Given the description of an element on the screen output the (x, y) to click on. 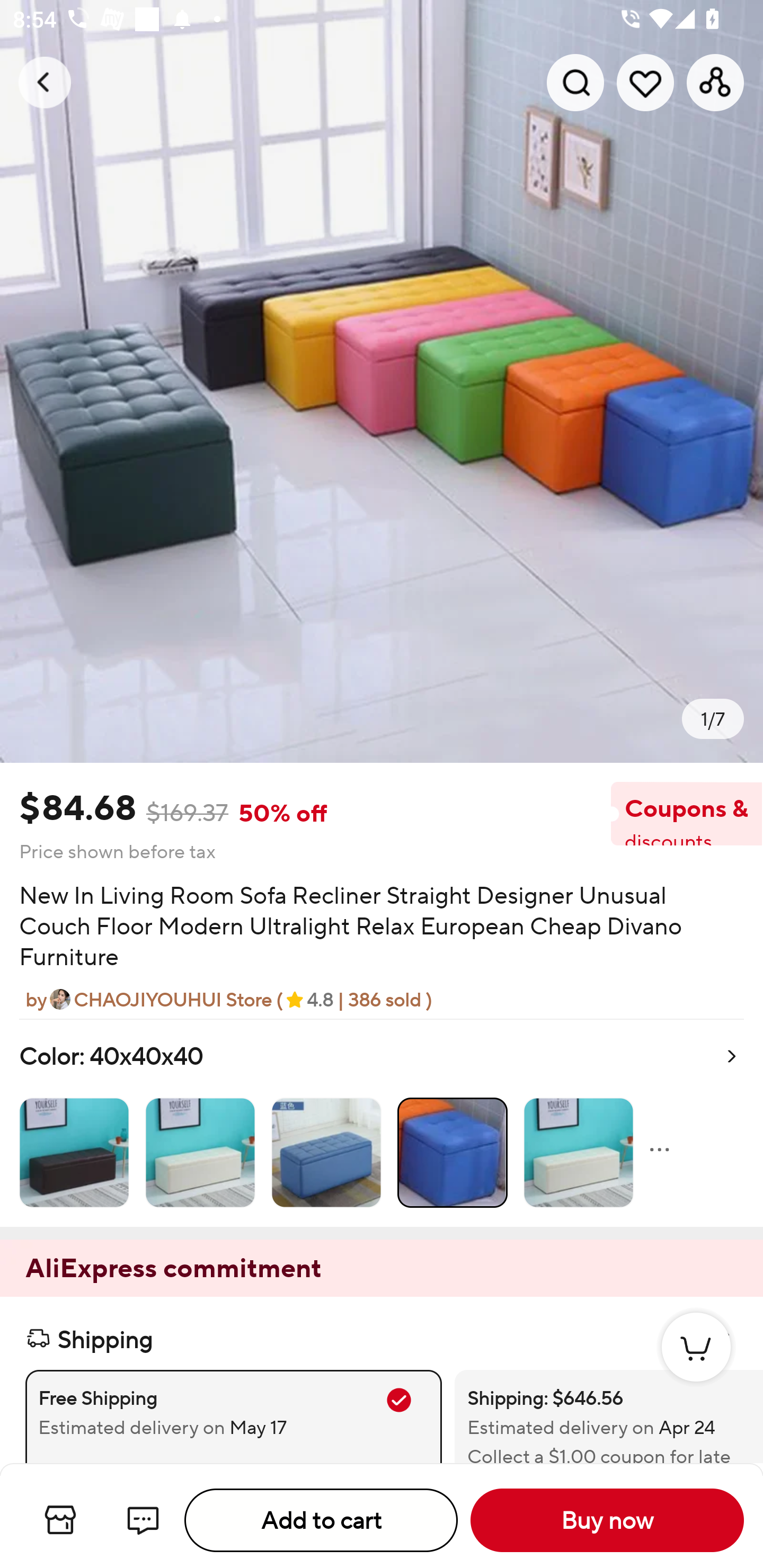
Navigate up (44, 82)
Color: 40x40x40  (381, 1122)
Free Shipping  Estimated delivery on May 17  (233, 1416)
Add to cart (320, 1520)
Buy now (606, 1520)
